Given the description of an element on the screen output the (x, y) to click on. 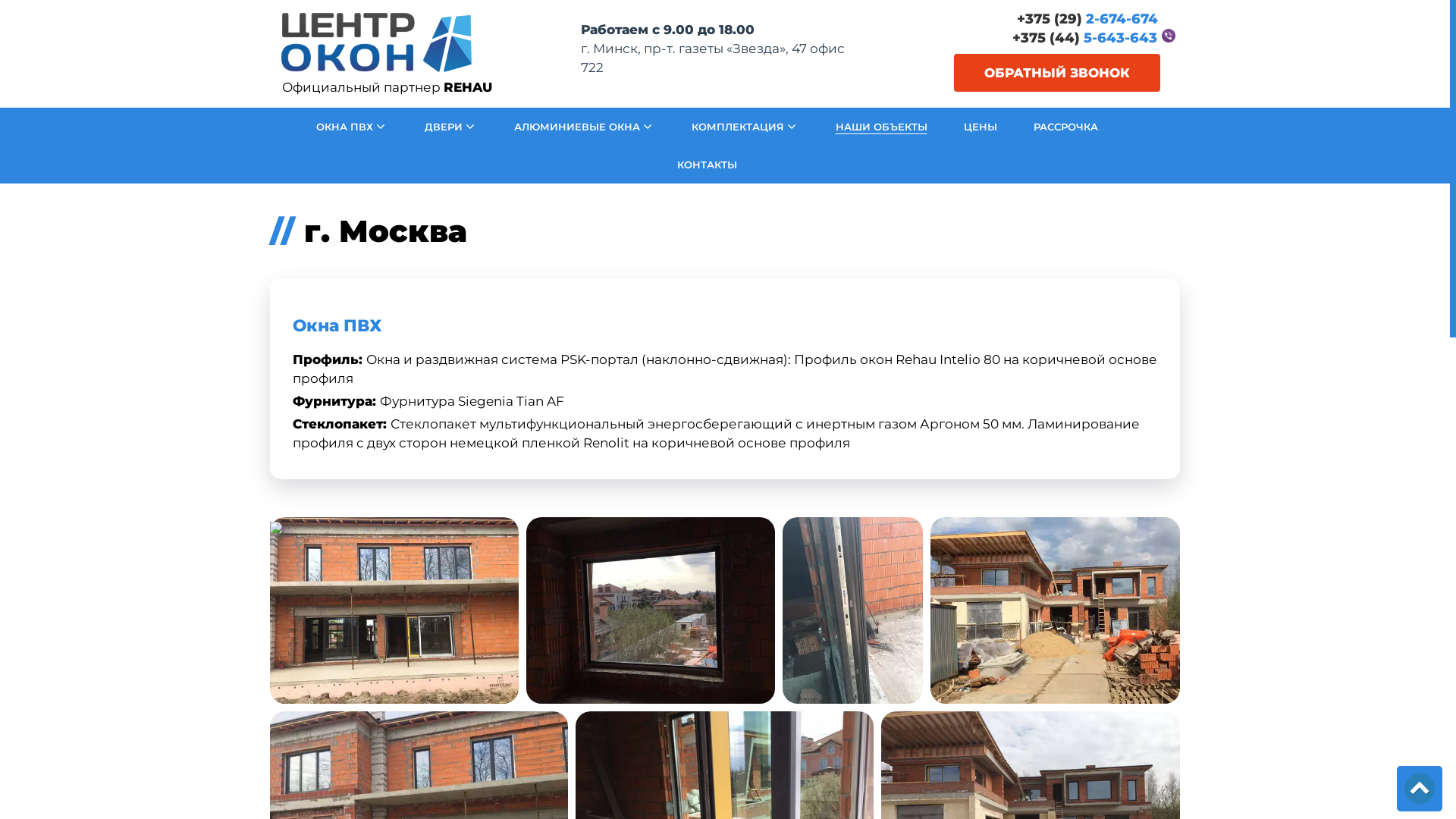
+375 (44) 5-643-643 Element type: text (1084, 37)
+375 (29) 2-674-674 Element type: text (1086, 18)
